Given the description of an element on the screen output the (x, y) to click on. 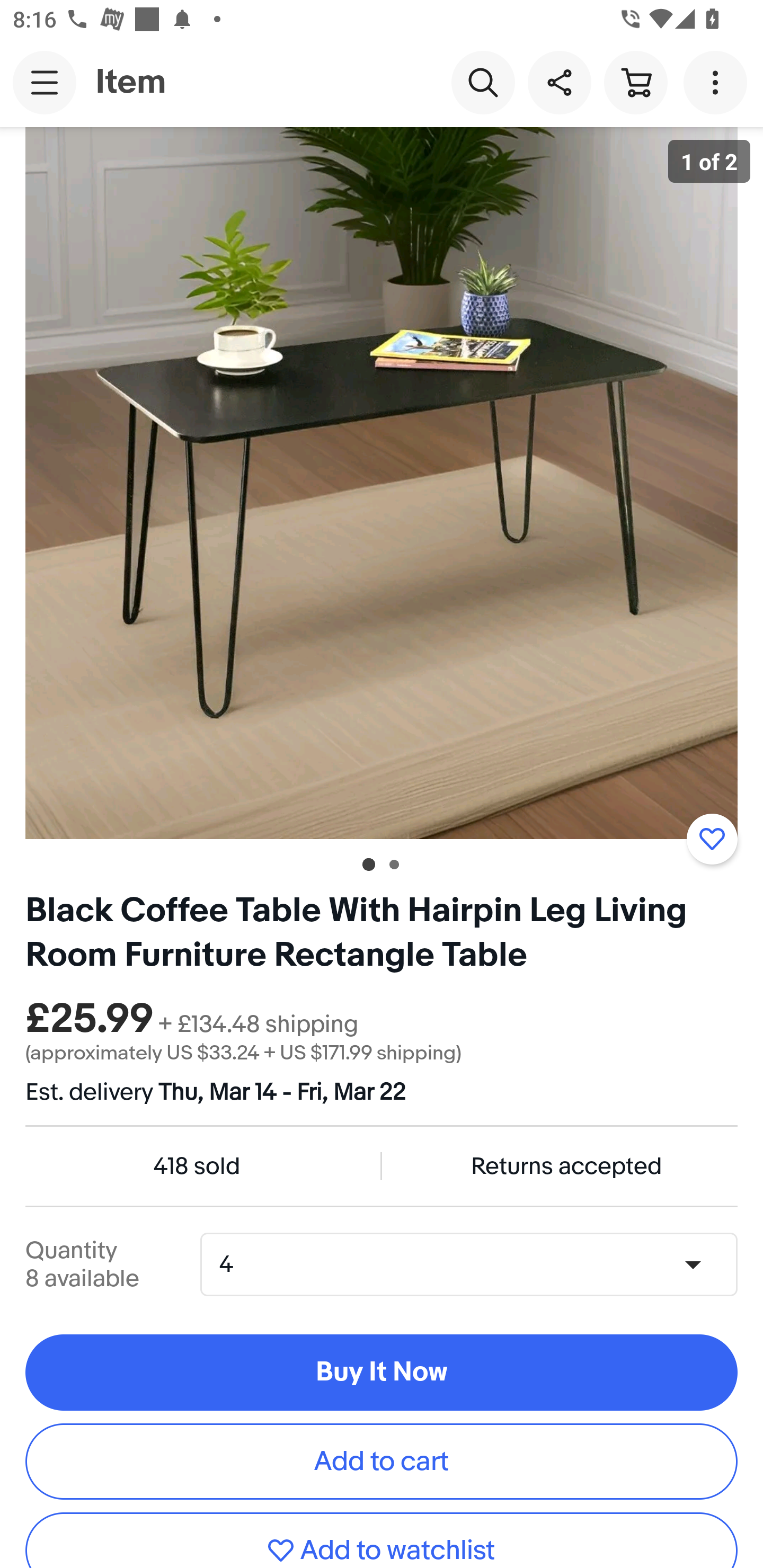
Main navigation, open (44, 82)
Search (482, 81)
Share this item (559, 81)
Cart button shopping cart (635, 81)
More options (718, 81)
Item image 1 of 2 (381, 482)
Add to watchlist (711, 838)
Quantity,4,8 available 4 (474, 1264)
Buy It Now (381, 1372)
Add to cart (381, 1461)
Add to watchlist (381, 1540)
